Given the description of an element on the screen output the (x, y) to click on. 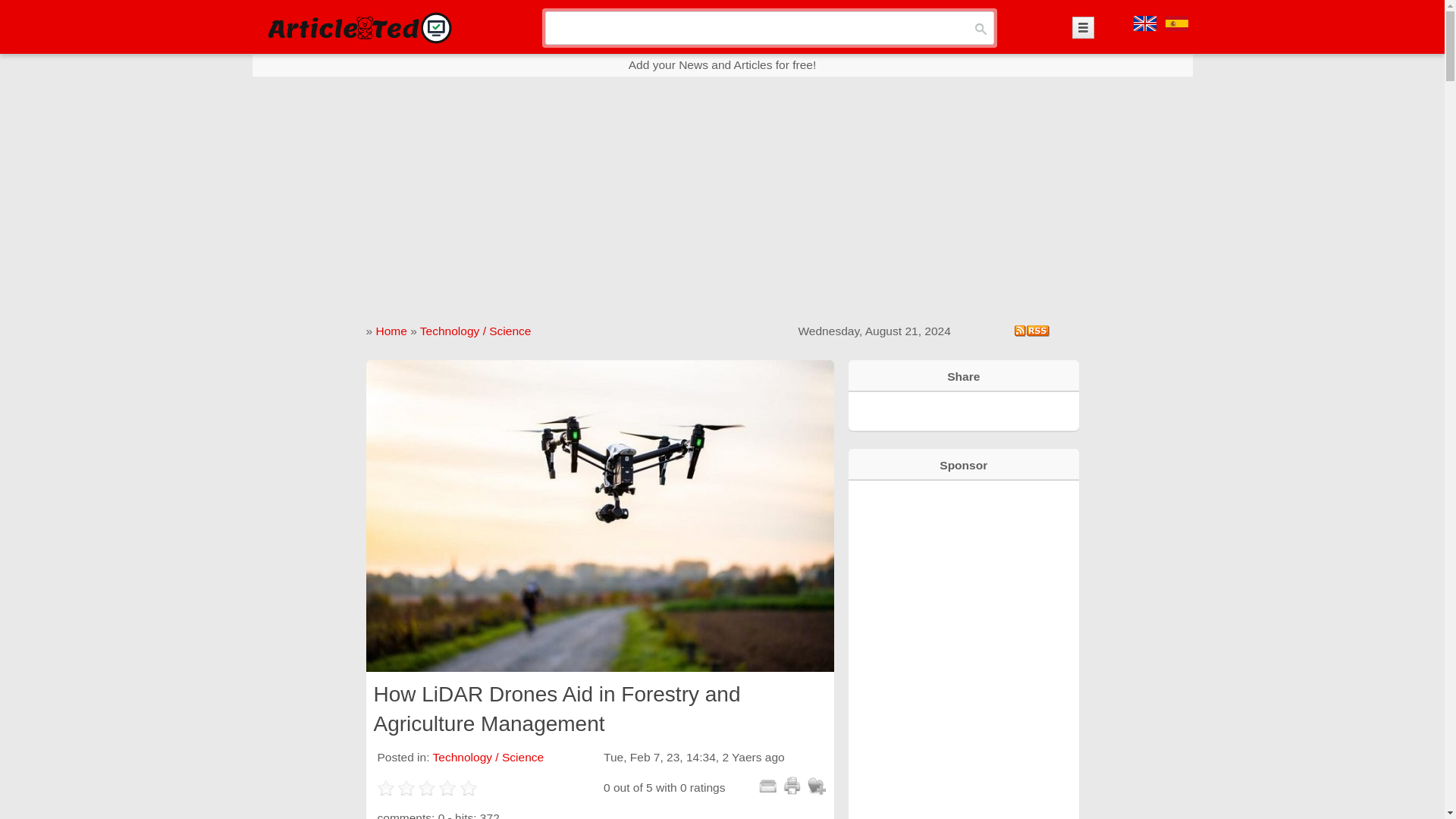
ArticleTed -  News and Articles (357, 27)
Home (390, 330)
